Given the description of an element on the screen output the (x, y) to click on. 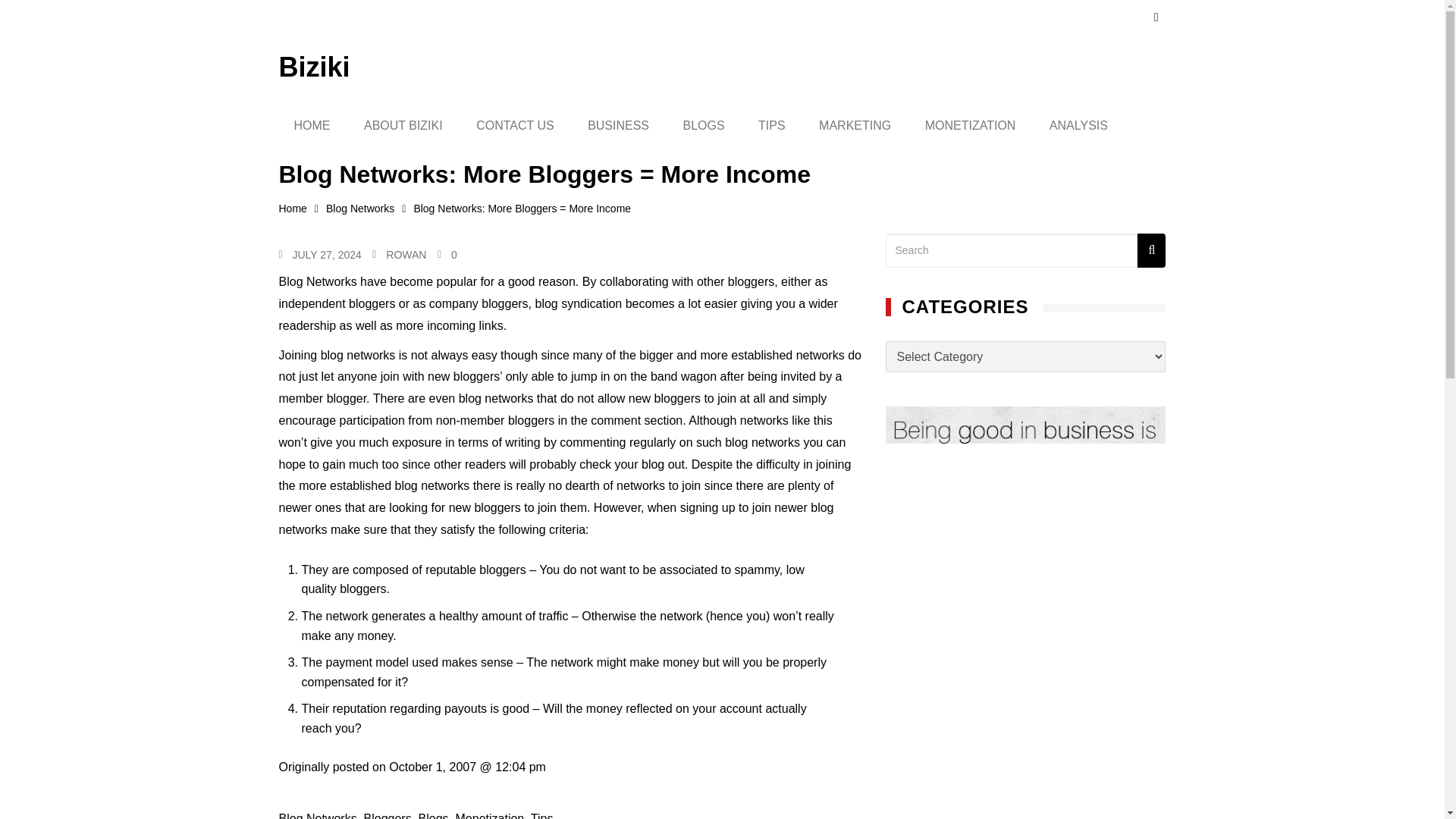
MARKETING (854, 125)
JULY 27, 2024 (326, 254)
ROWAN (405, 254)
Blog Networks (369, 208)
Home (302, 208)
TIPS (771, 125)
ABOUT BIZIKI (403, 125)
Blog Networks (317, 815)
BUSINESS (617, 125)
MONETIZATION (970, 125)
